Given the description of an element on the screen output the (x, y) to click on. 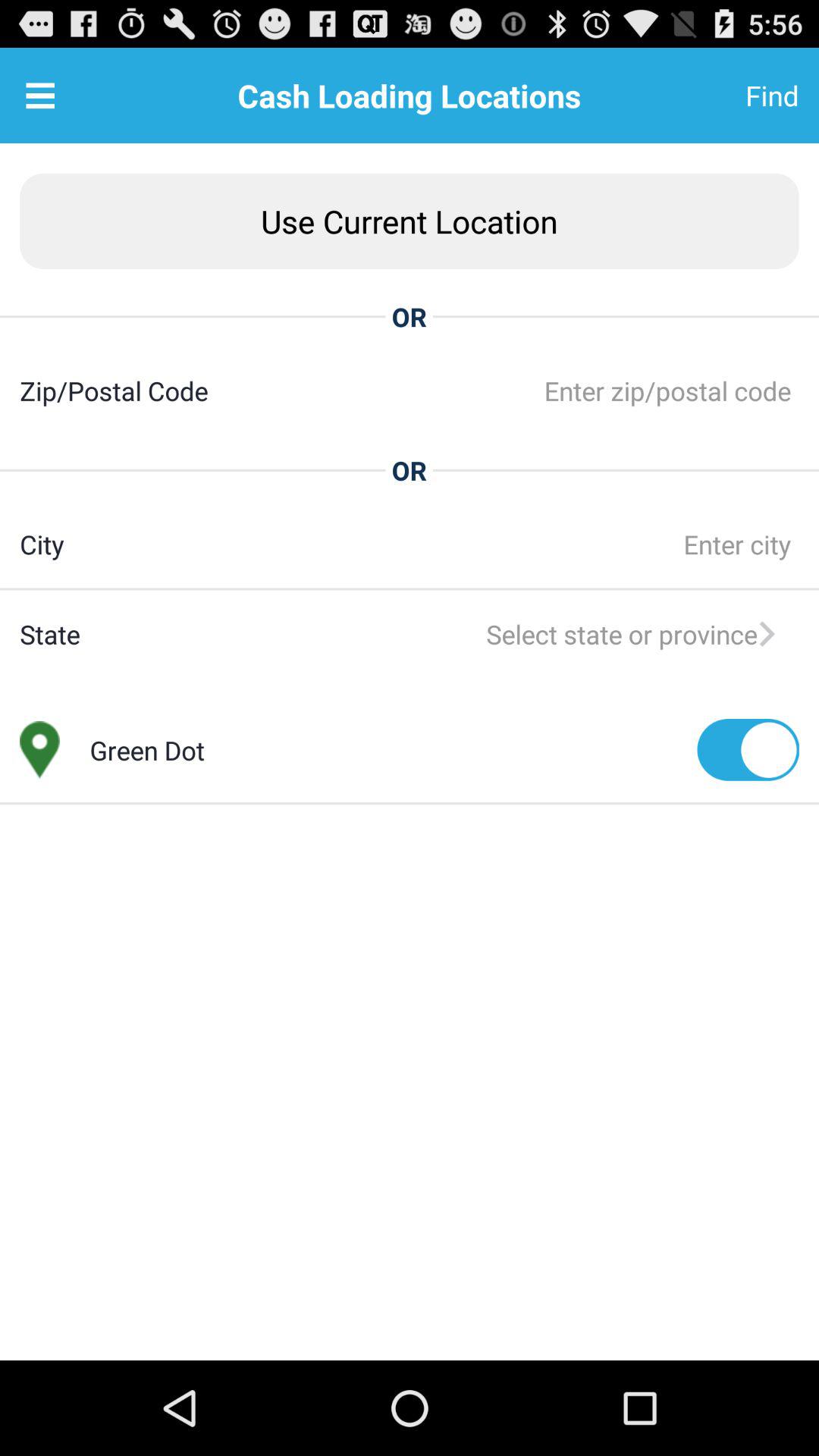
press find item (735, 95)
